Given the description of an element on the screen output the (x, y) to click on. 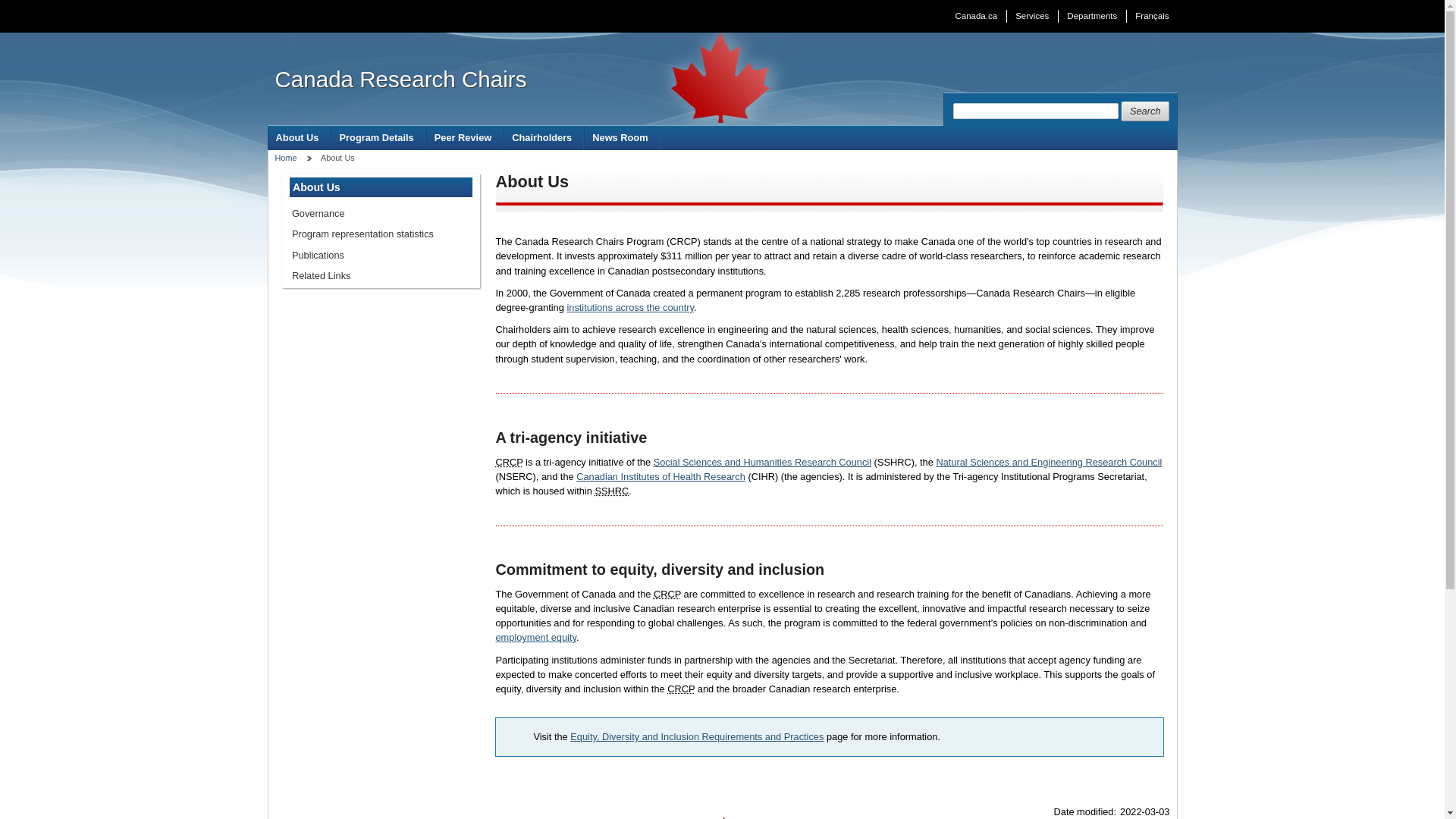
News Room (622, 137)
Canada Research Chairs Program (509, 461)
Chairholders (543, 137)
Departments (1091, 15)
Related Links (381, 275)
Canada.ca (976, 15)
Program Details (378, 137)
Services (1032, 15)
Canada Research Chairs Program (680, 688)
Social Sciences and Humanities Research Council (611, 490)
